Given the description of an element on the screen output the (x, y) to click on. 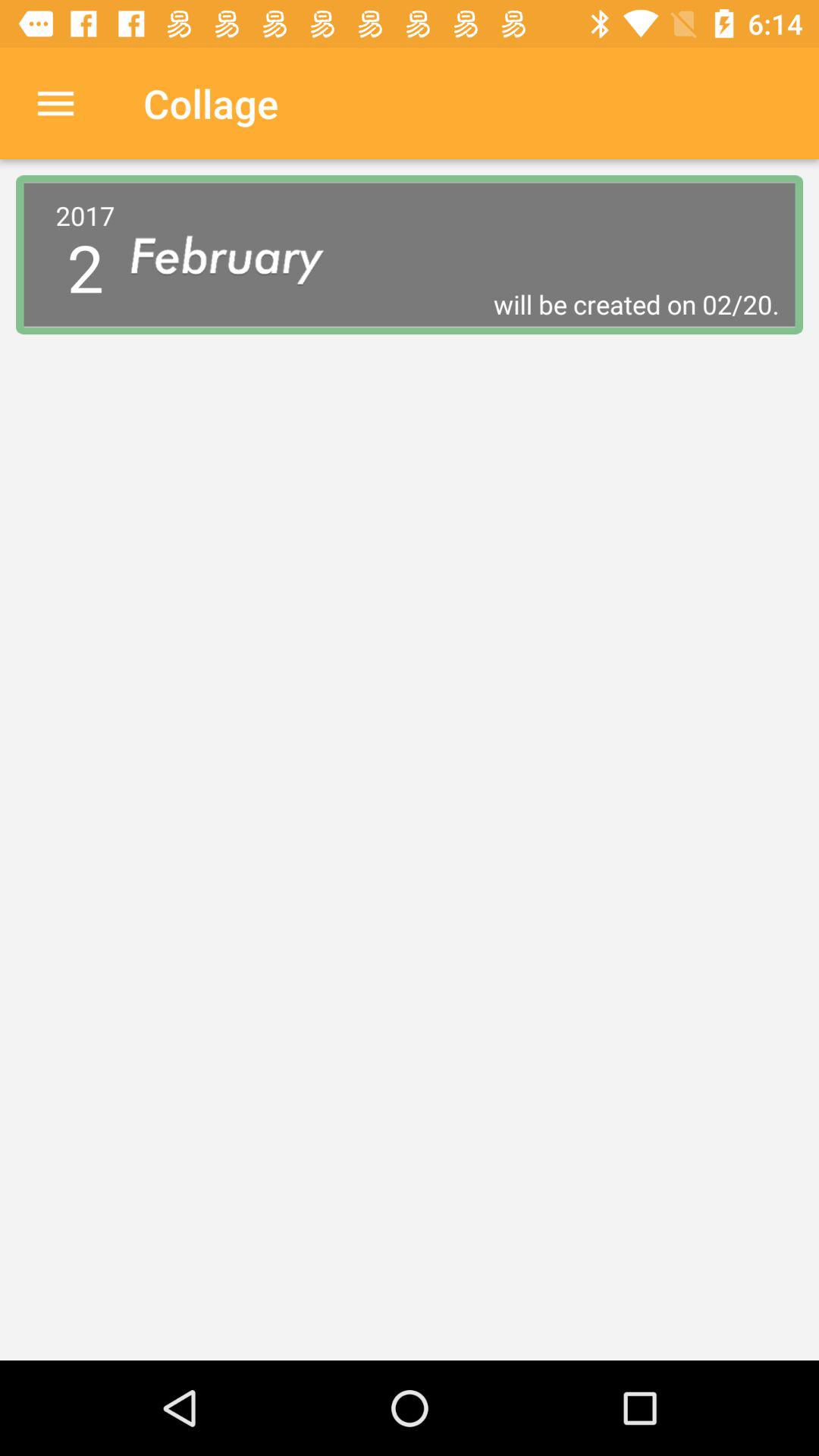
launch 2017
2 icon (84, 254)
